Given the description of an element on the screen output the (x, y) to click on. 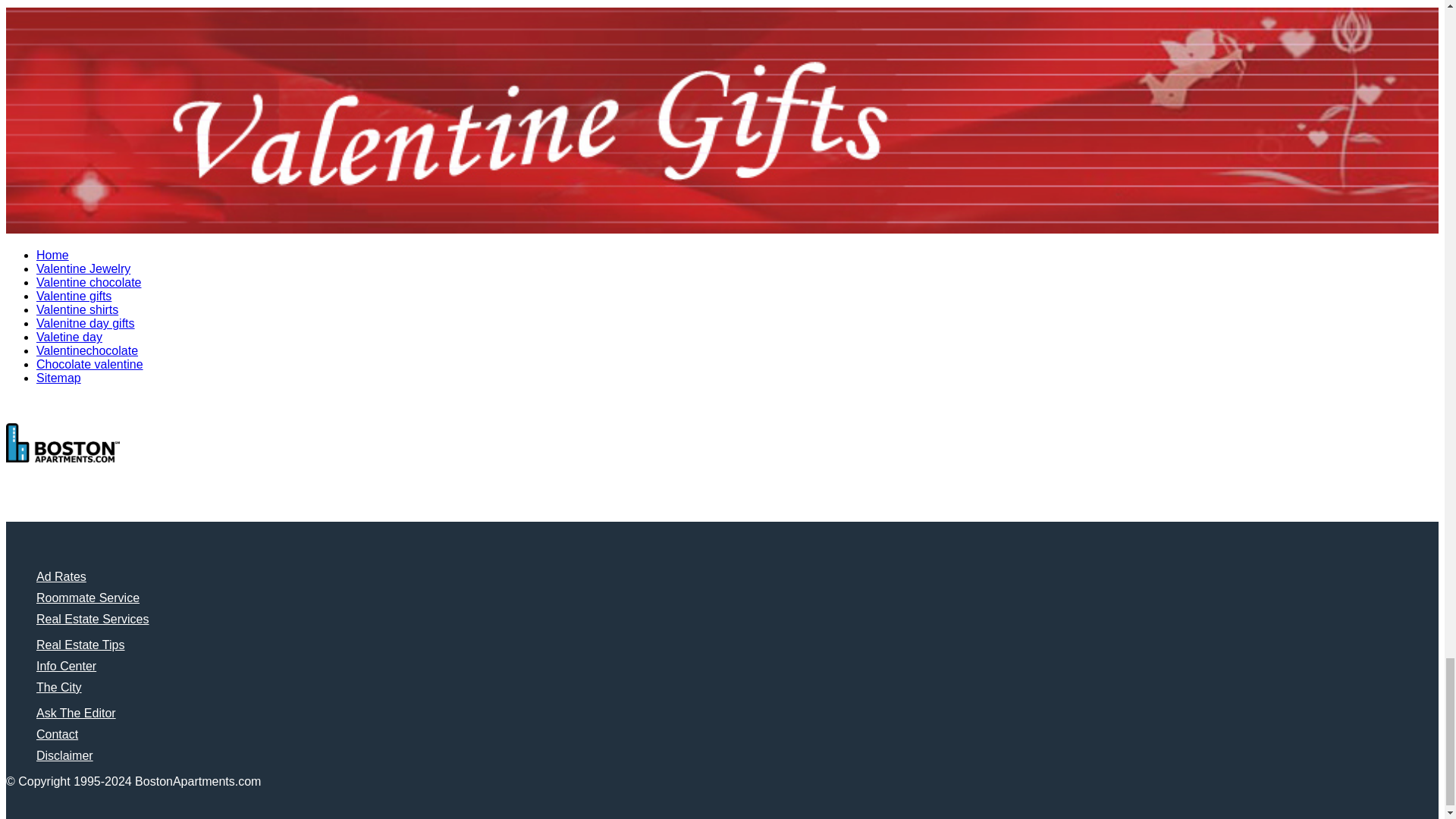
Real Estate Services (92, 618)
Real Estate Tips (80, 644)
Home (52, 254)
The City (58, 686)
Valentine chocolate (88, 282)
Valentine shirts (76, 309)
Sitemap (58, 377)
Roommate Service (87, 597)
Ad Rates (60, 576)
Valentine Jewelry (83, 268)
